Given the description of an element on the screen output the (x, y) to click on. 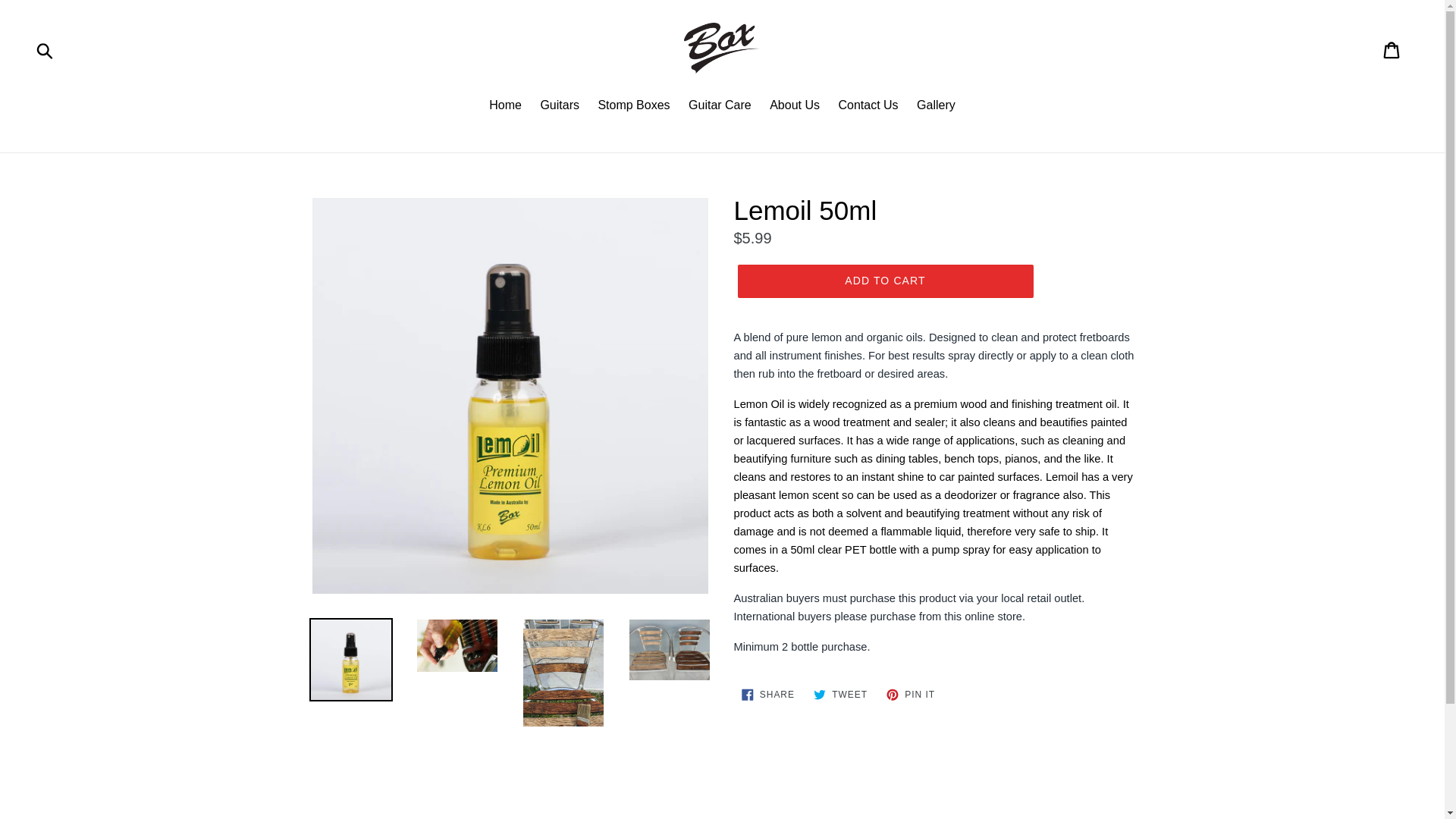
Guitar Care (719, 106)
Stomp Boxes (910, 694)
Home (633, 106)
Gallery (505, 106)
About Us (935, 106)
Cart (794, 106)
ADD TO CART (1392, 49)
Contact Us (884, 281)
Submit (867, 106)
Guitars (45, 49)
